Given the description of an element on the screen output the (x, y) to click on. 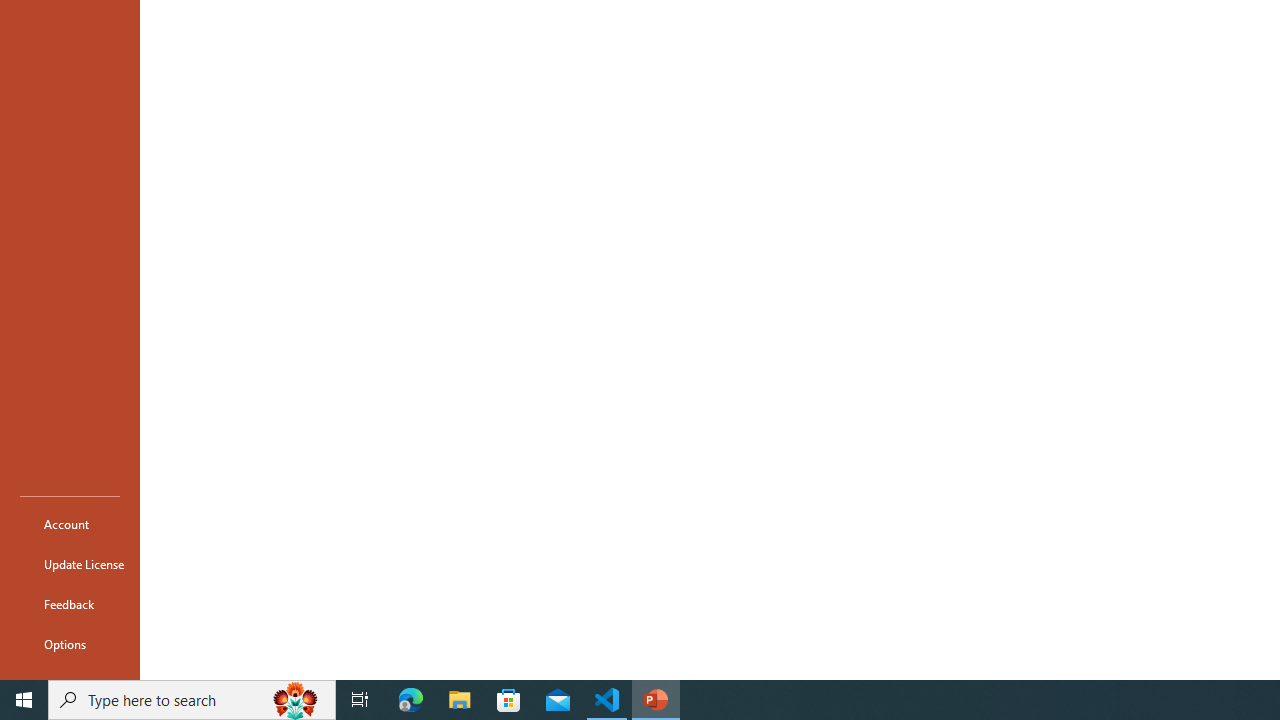
Options (69, 643)
Account (69, 523)
Update License (69, 563)
Feedback (69, 603)
